Given the description of an element on the screen output the (x, y) to click on. 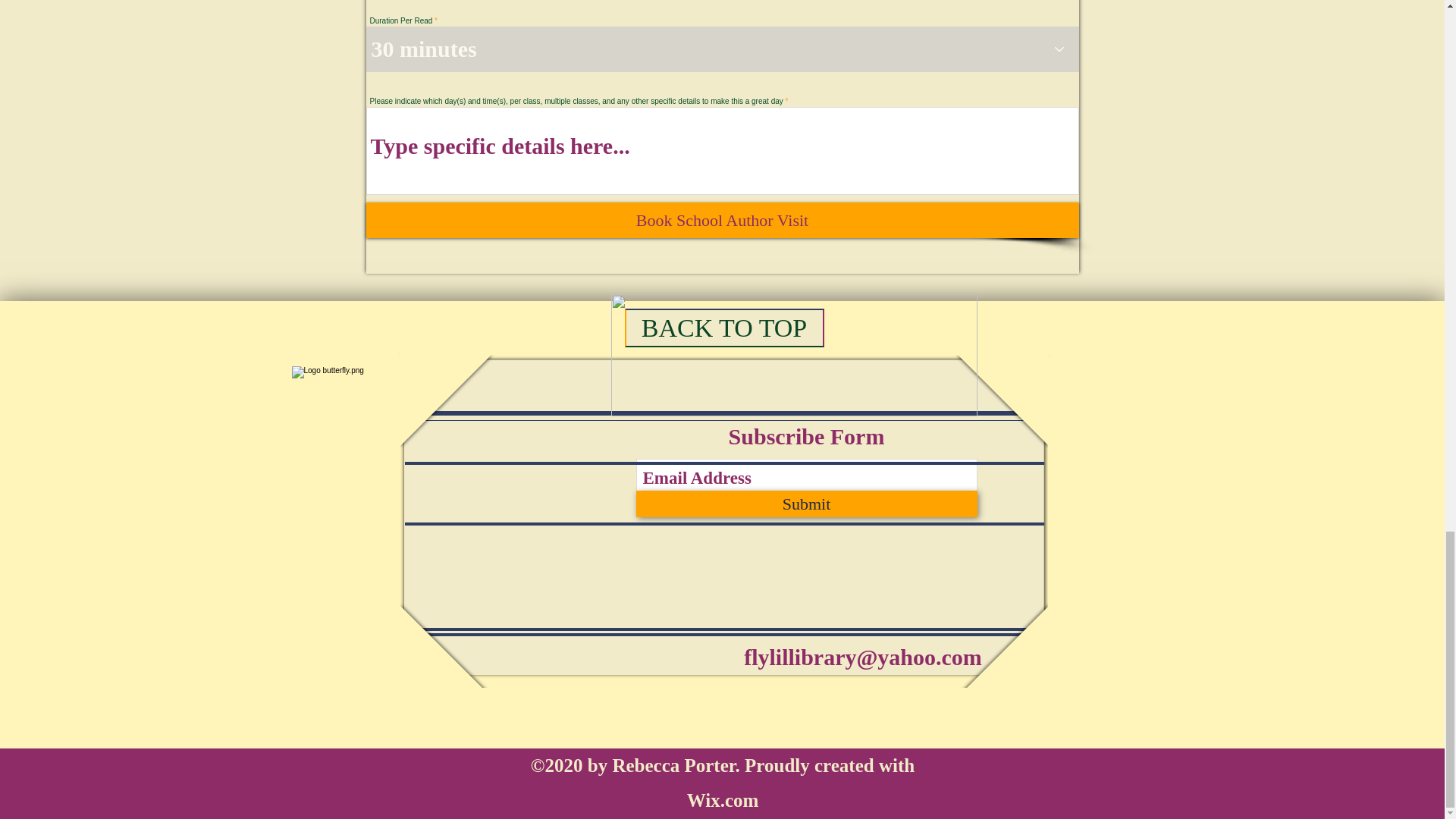
BACK TO TOP (724, 327)
Book School Author Visit (721, 220)
Submit (805, 503)
